Given the description of an element on the screen output the (x, y) to click on. 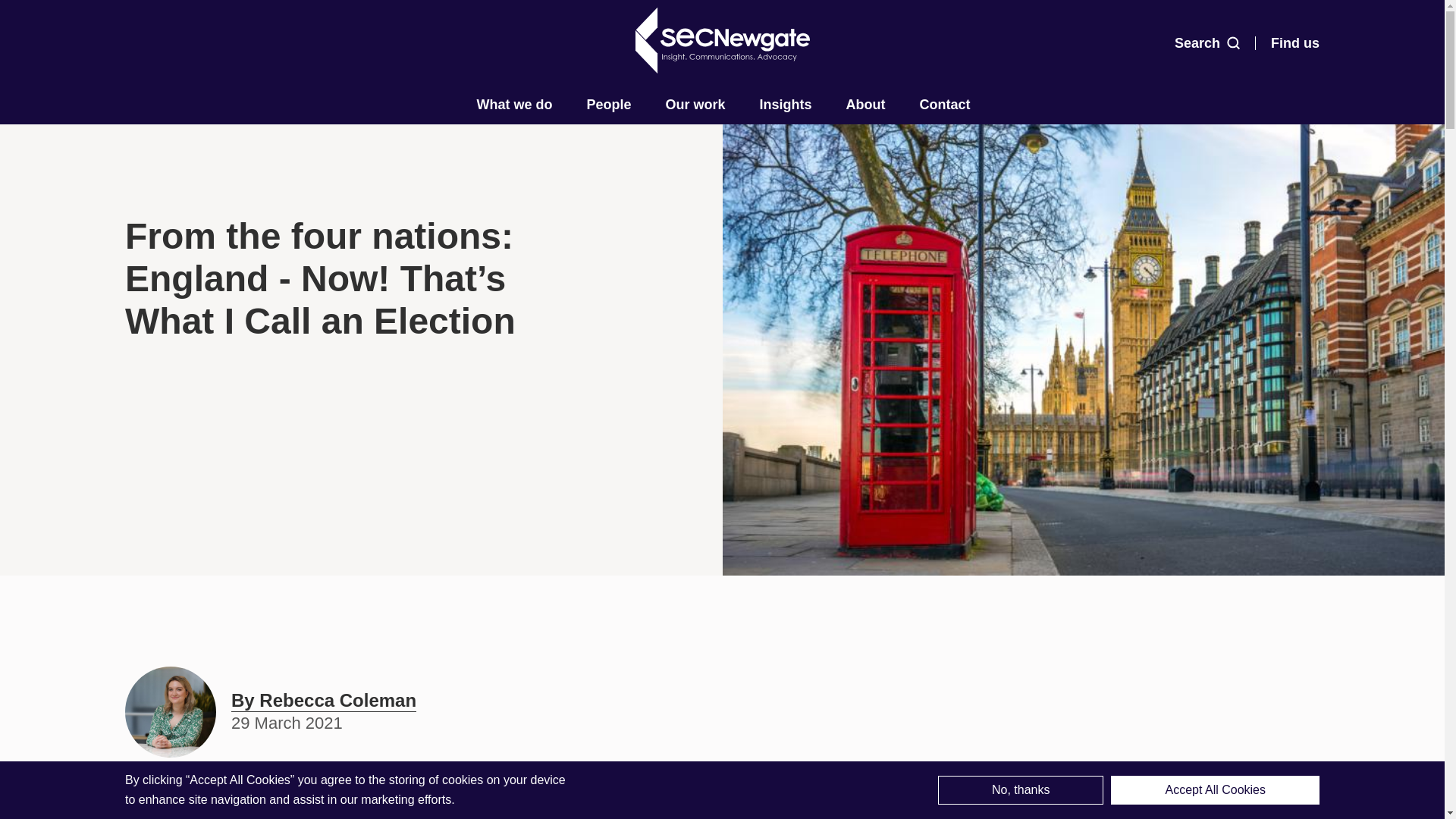
Header logo used to navigate to home page (721, 39)
